Given the description of an element on the screen output the (x, y) to click on. 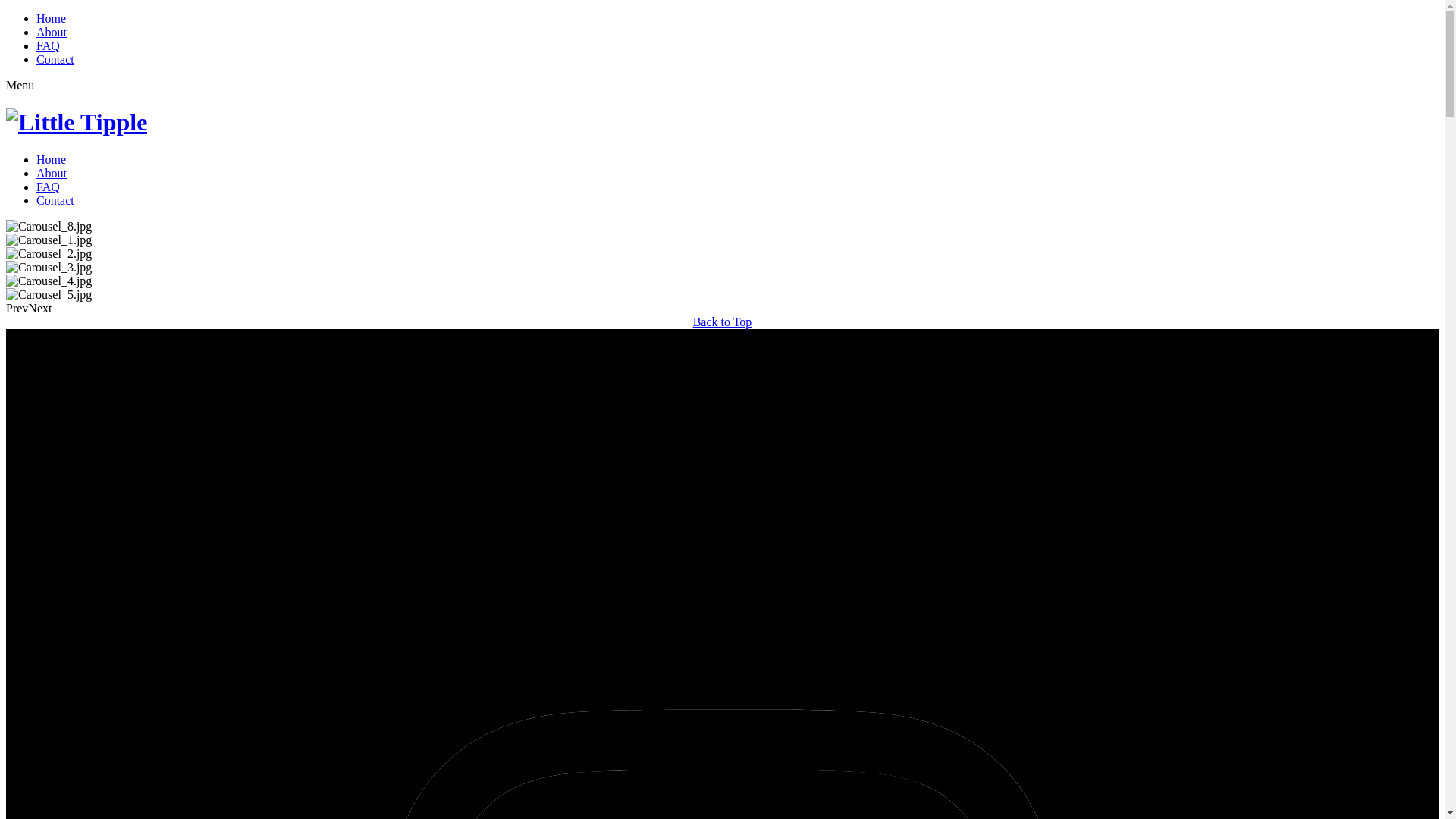
Menu Element type: text (20, 84)
FAQ Element type: text (47, 45)
Contact Element type: text (55, 200)
About Element type: text (51, 172)
Back to Top Element type: text (722, 321)
Home Element type: text (50, 159)
Contact Element type: text (55, 59)
About Element type: text (51, 31)
Home Element type: text (50, 18)
FAQ Element type: text (47, 186)
